Given the description of an element on the screen output the (x, y) to click on. 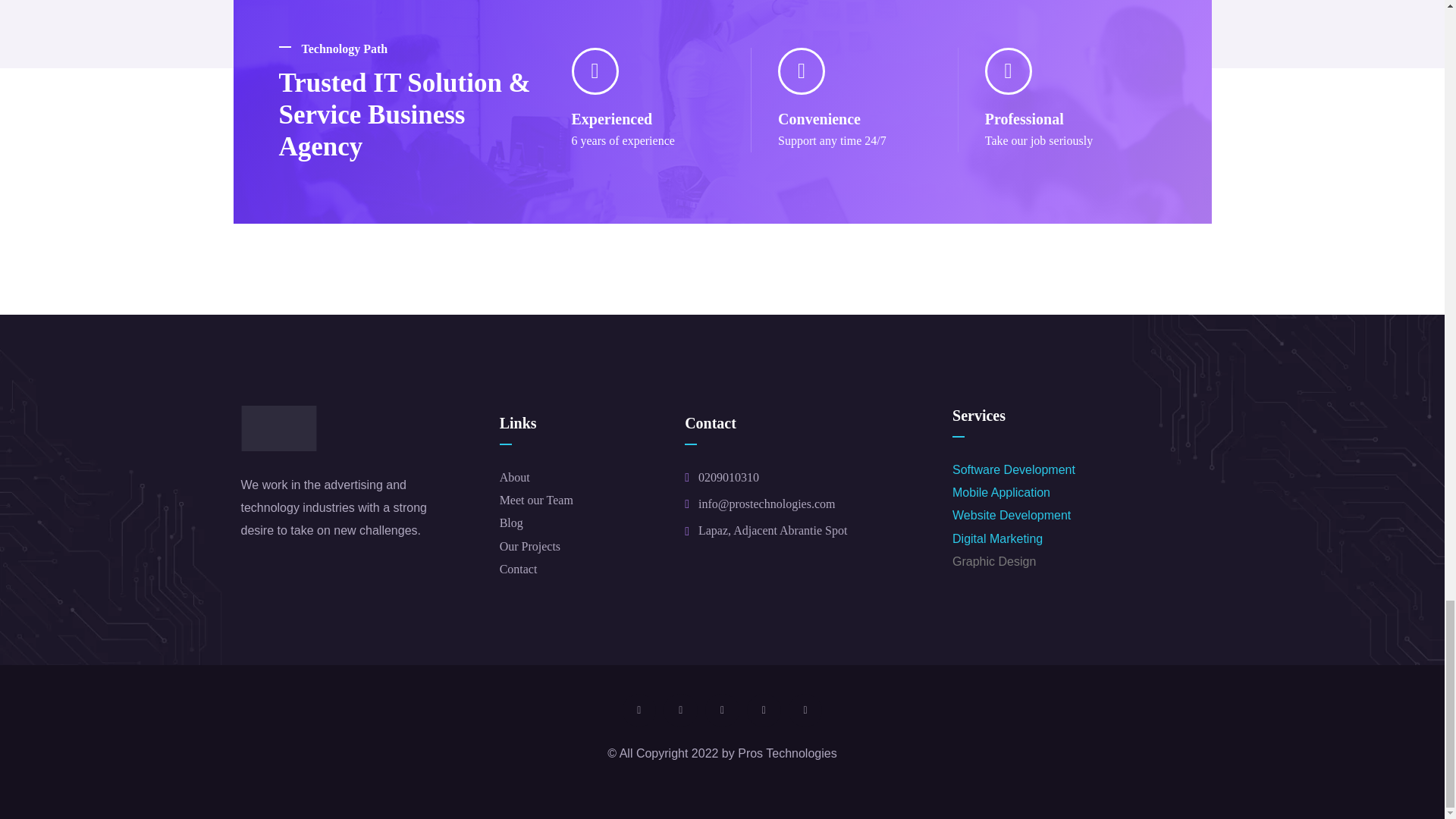
address (766, 504)
Lapaz, Adjacent Abrantie Spot (772, 530)
address (728, 477)
